Given the description of an element on the screen output the (x, y) to click on. 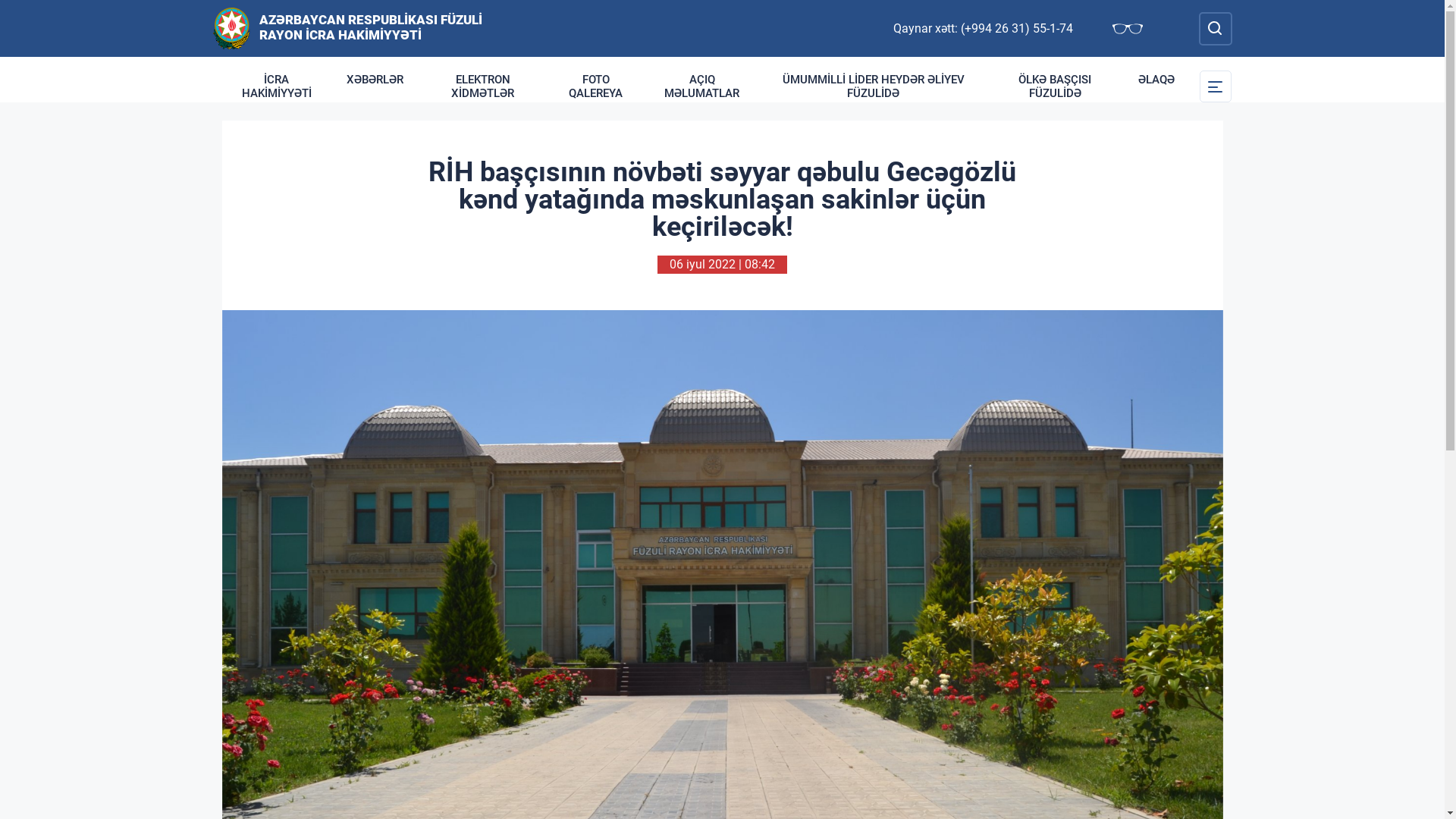
FOTO QALEREYA Element type: text (595, 86)
